Given the description of an element on the screen output the (x, y) to click on. 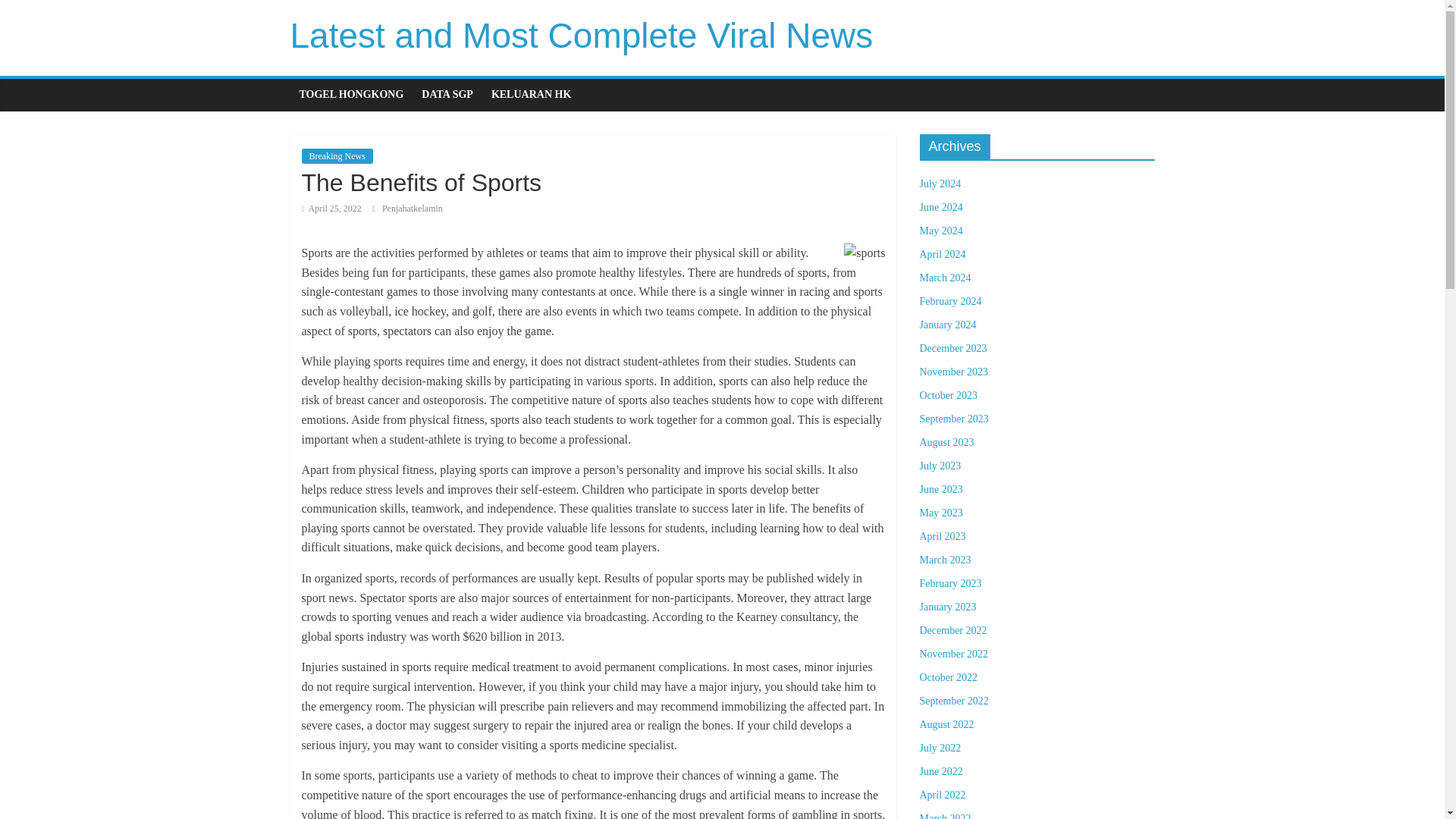
10:08 am (331, 208)
Penjahatkelamin (411, 208)
July 2023 (939, 465)
Breaking News (336, 155)
April 25, 2022 (331, 208)
July 2022 (939, 747)
January 2024 (946, 324)
December 2023 (952, 348)
January 2023 (946, 606)
March 2023 (944, 559)
December 2022 (952, 630)
June 2022 (940, 771)
September 2022 (953, 700)
July 2024 (939, 183)
August 2023 (946, 441)
